Given the description of an element on the screen output the (x, y) to click on. 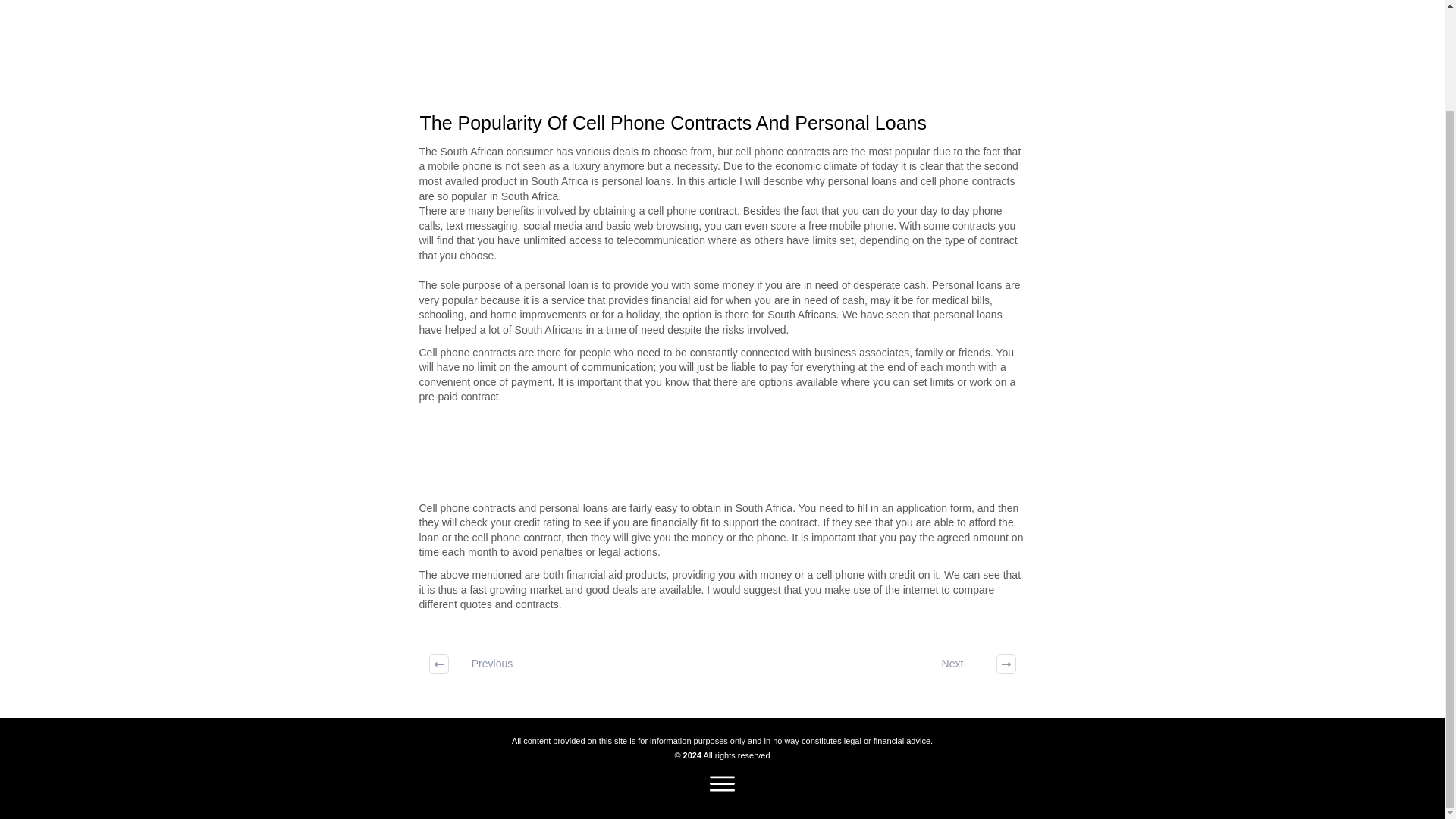
The popularity of cell phone contracts and personal loans (673, 122)
Previous (477, 664)
Next (968, 664)
The Popularity Of Cell Phone Contracts And Personal Loans (673, 122)
